Given the description of an element on the screen output the (x, y) to click on. 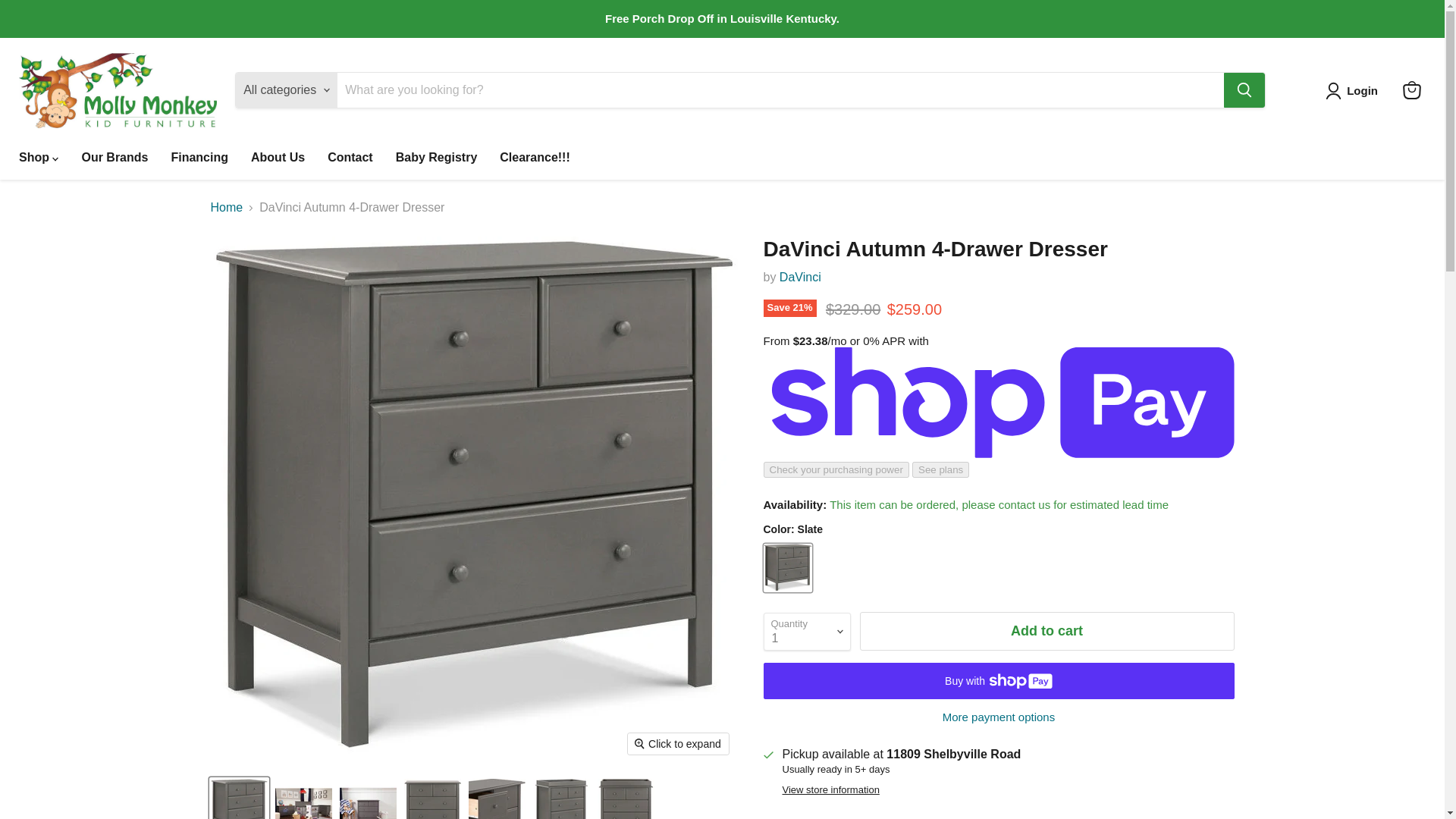
View cart (1411, 90)
Financing (199, 157)
Login (1362, 90)
DaVinci (799, 277)
Our Brands (113, 157)
